Given the description of an element on the screen output the (x, y) to click on. 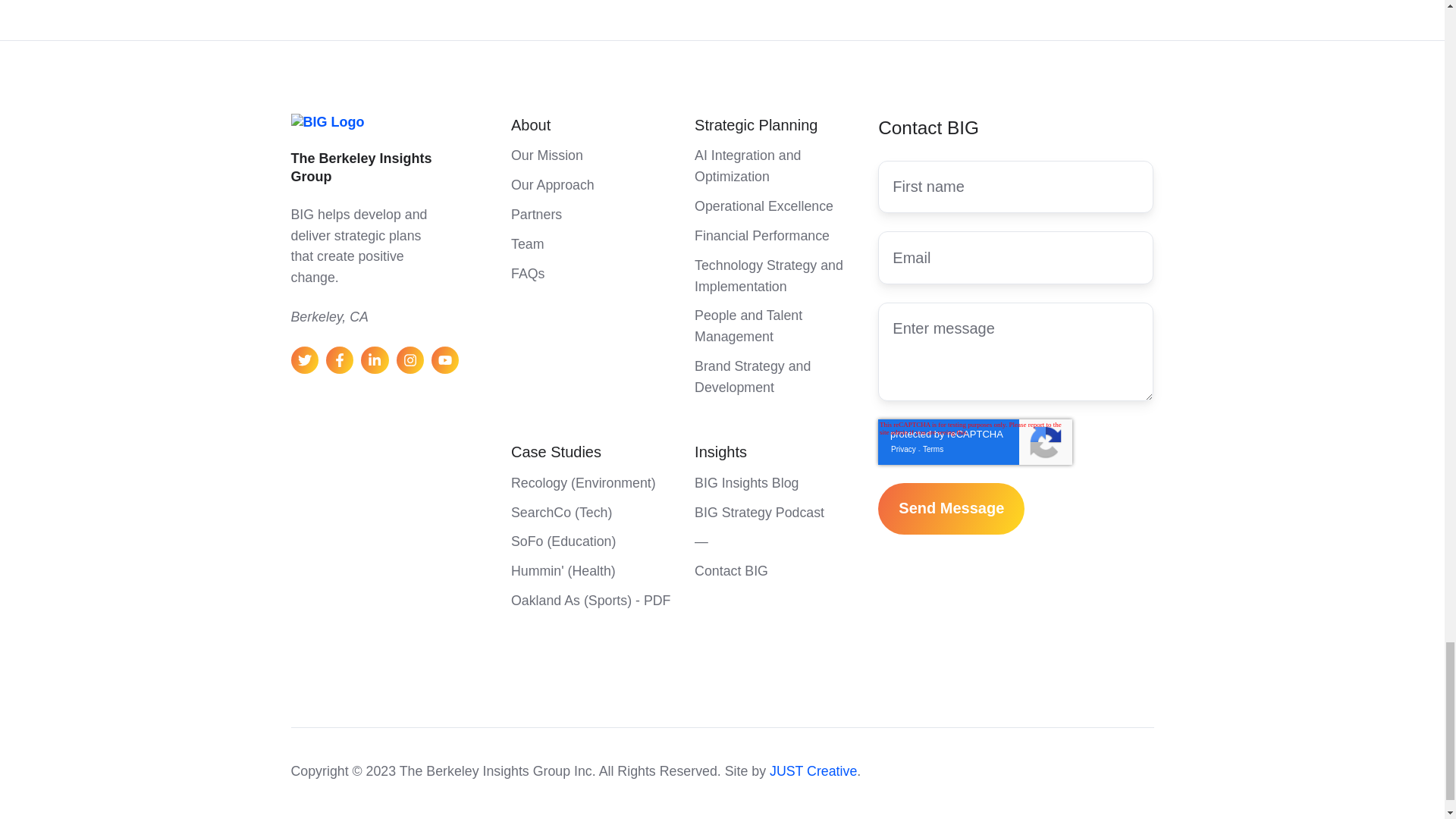
reCAPTCHA (974, 442)
Send Message (951, 508)
